Given the description of an element on the screen output the (x, y) to click on. 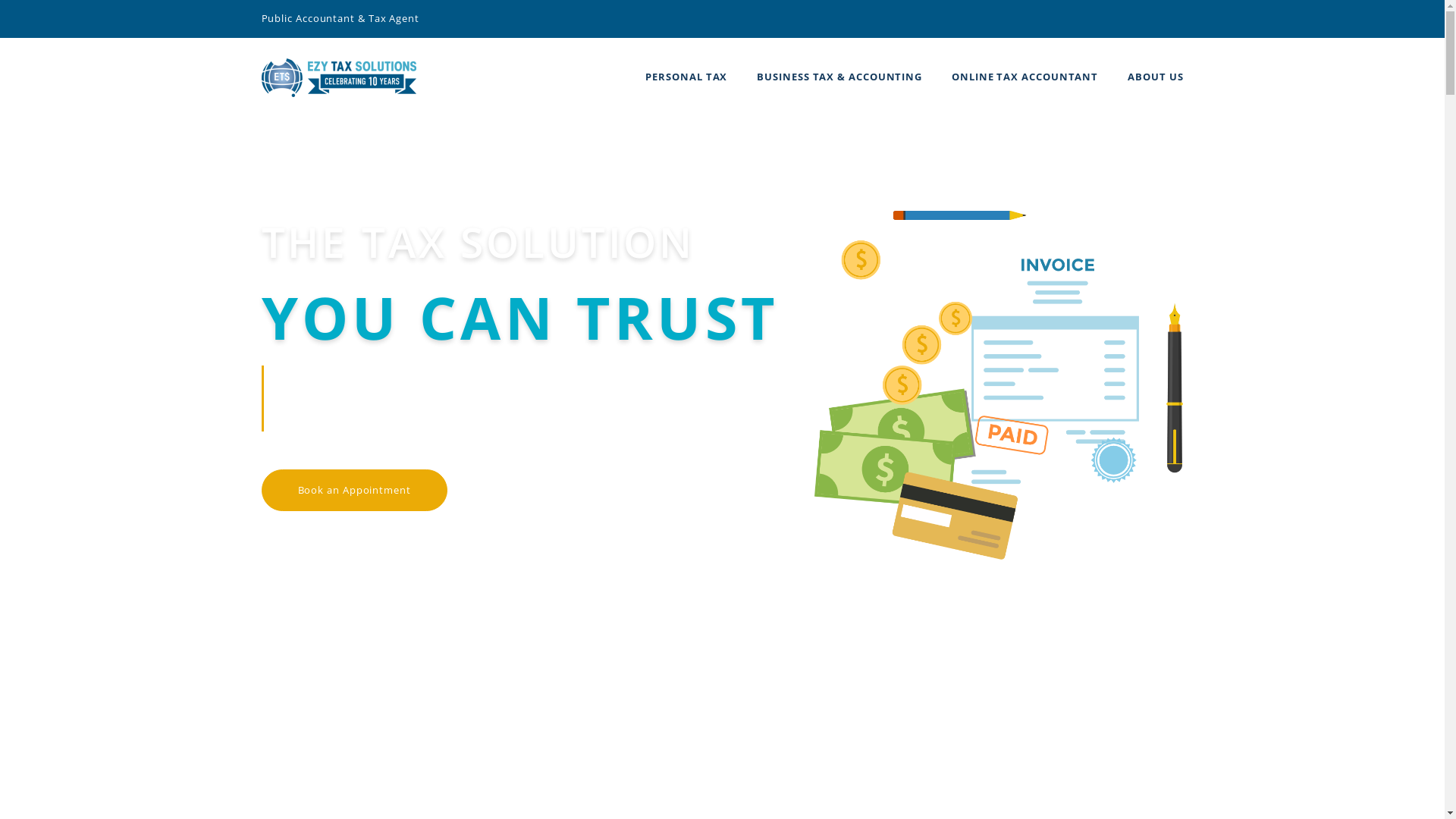
ONLINE TAX ACCOUNTANT Element type: text (1024, 76)
Book an Appointment Element type: text (353, 490)
BUSINESS TAX & ACCOUNTING Element type: text (839, 76)
ABOUT US Element type: text (1155, 76)
PERSONAL TAX Element type: text (686, 76)
